Given the description of an element on the screen output the (x, y) to click on. 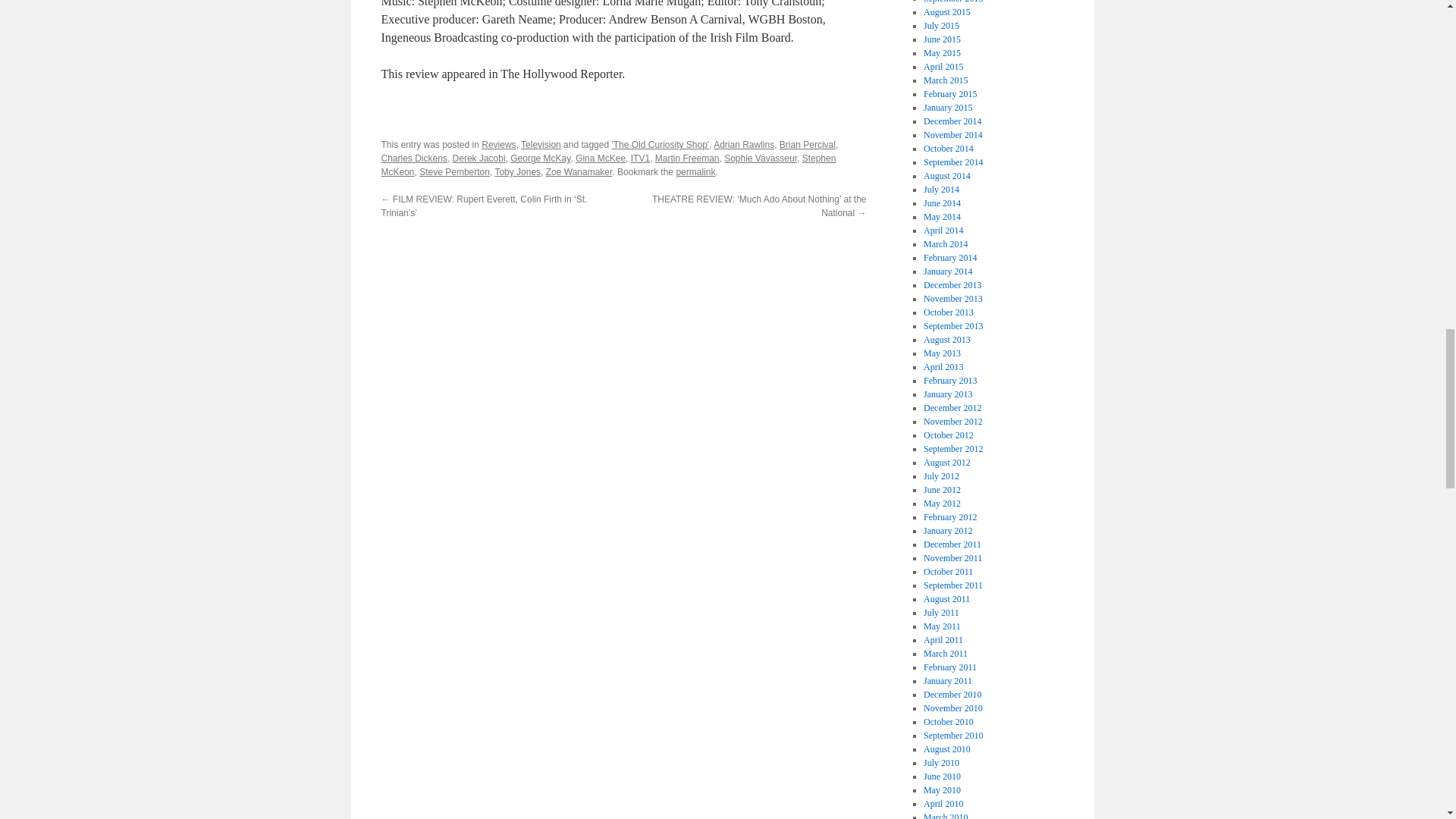
Charles Dickens (413, 158)
Derek Jacobi (478, 158)
Television (540, 144)
'The Old Curiosity Shop' (660, 144)
Martin Freeman (687, 158)
George McKay (540, 158)
Sophie Vavasseur (759, 158)
Adrian Rawlins (743, 144)
Reviews (498, 144)
Stephen McKeon (607, 165)
Zoe Wanamaker (579, 172)
Steve Pemberton (454, 172)
ITV1 (639, 158)
Toby Jones (517, 172)
Gina McKee (600, 158)
